Given the description of an element on the screen output the (x, y) to click on. 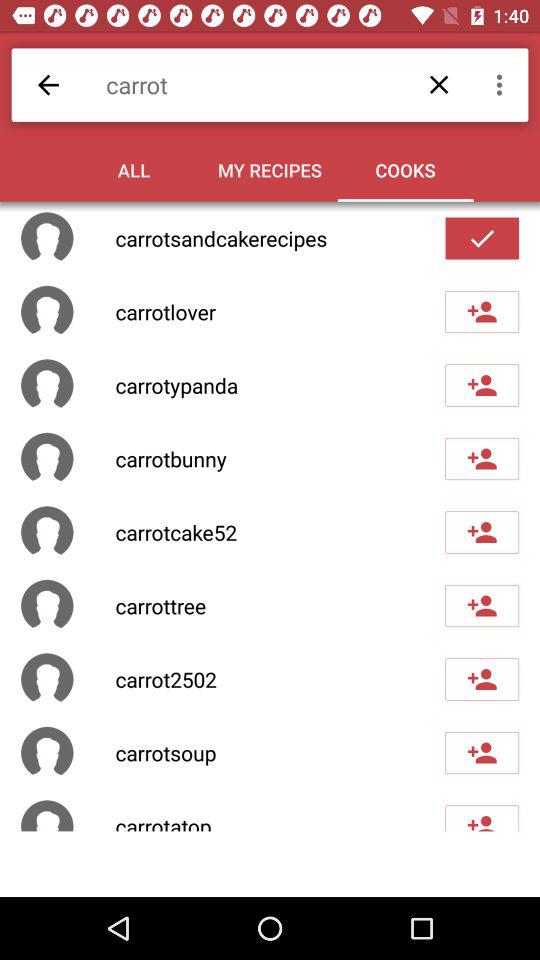
turn on the item to the left of the carrot (48, 84)
